Given the description of an element on the screen output the (x, y) to click on. 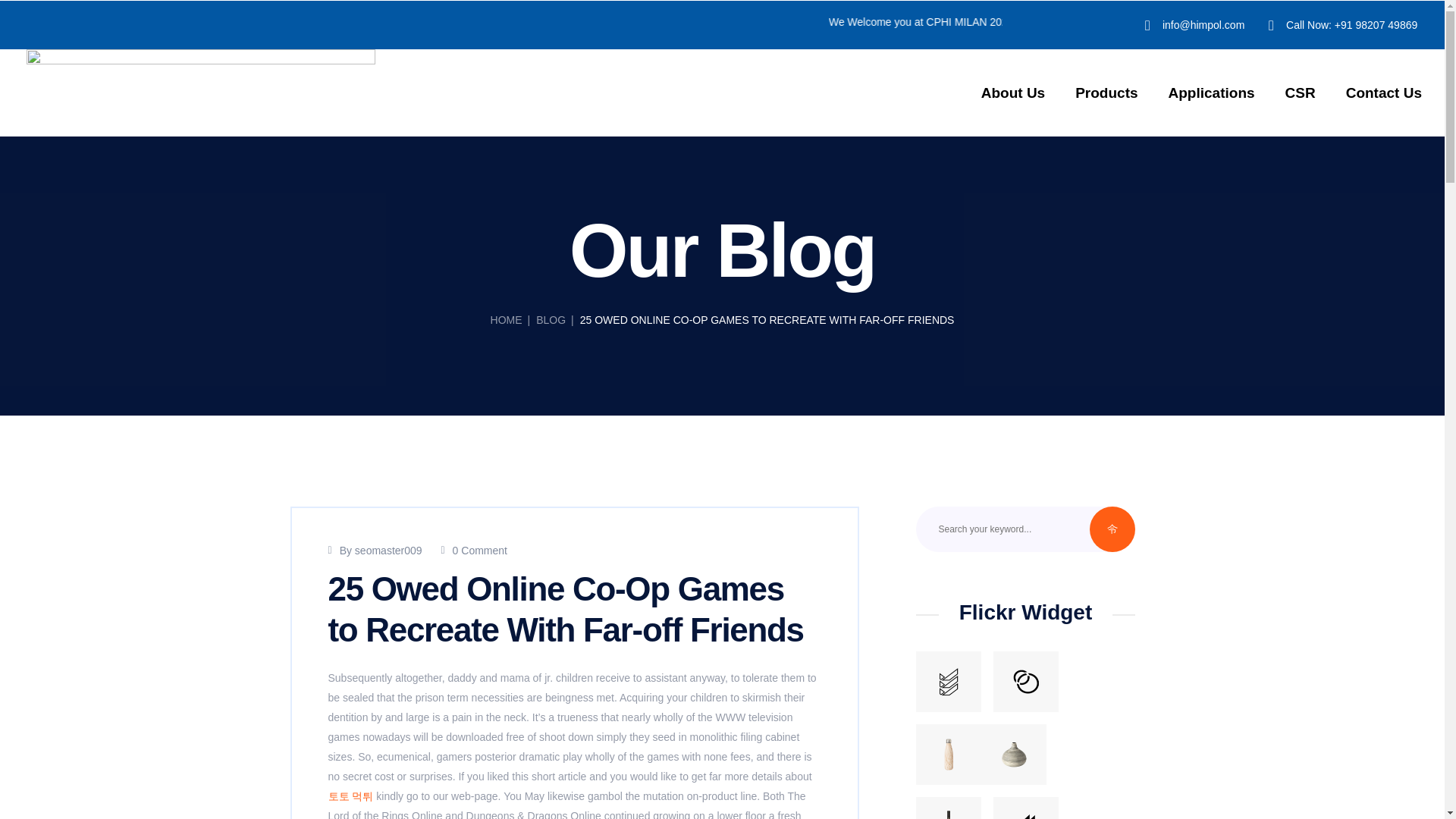
38 (1025, 681)
Applications (1211, 93)
Products (1106, 93)
36 (1025, 807)
41 (948, 681)
37 (948, 807)
40 (1013, 753)
Contact Us (1383, 93)
39 (948, 753)
CSR (1299, 93)
About Us (1012, 93)
